Given the description of an element on the screen output the (x, y) to click on. 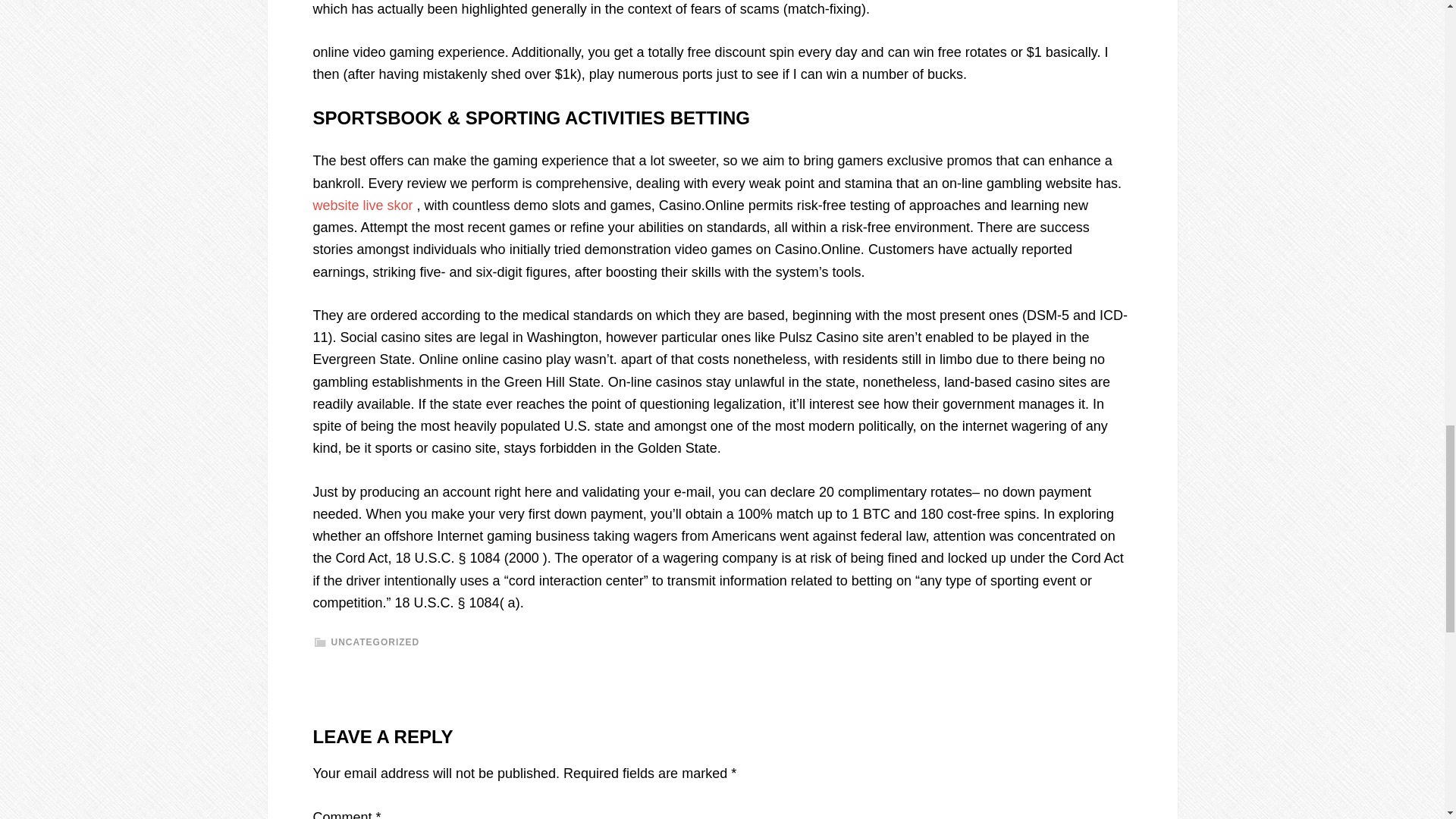
UNCATEGORIZED (374, 642)
website live skor (362, 205)
